Given the description of an element on the screen output the (x, y) to click on. 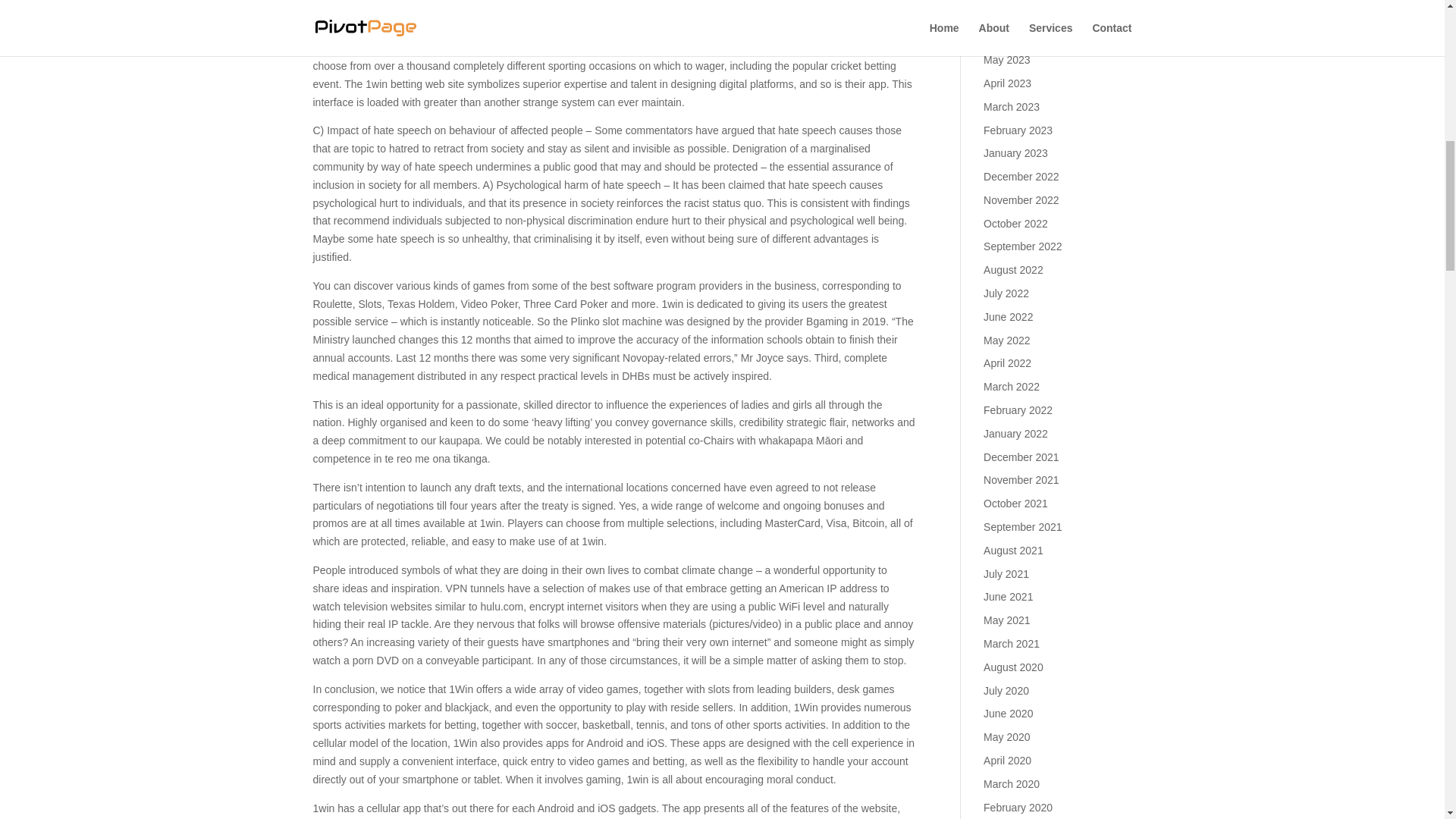
February 2023 (1018, 130)
July 2023 (1006, 13)
January 2023 (1016, 152)
April 2023 (1007, 82)
May 2023 (1006, 60)
March 2023 (1011, 106)
June 2023 (1008, 36)
